Given the description of an element on the screen output the (x, y) to click on. 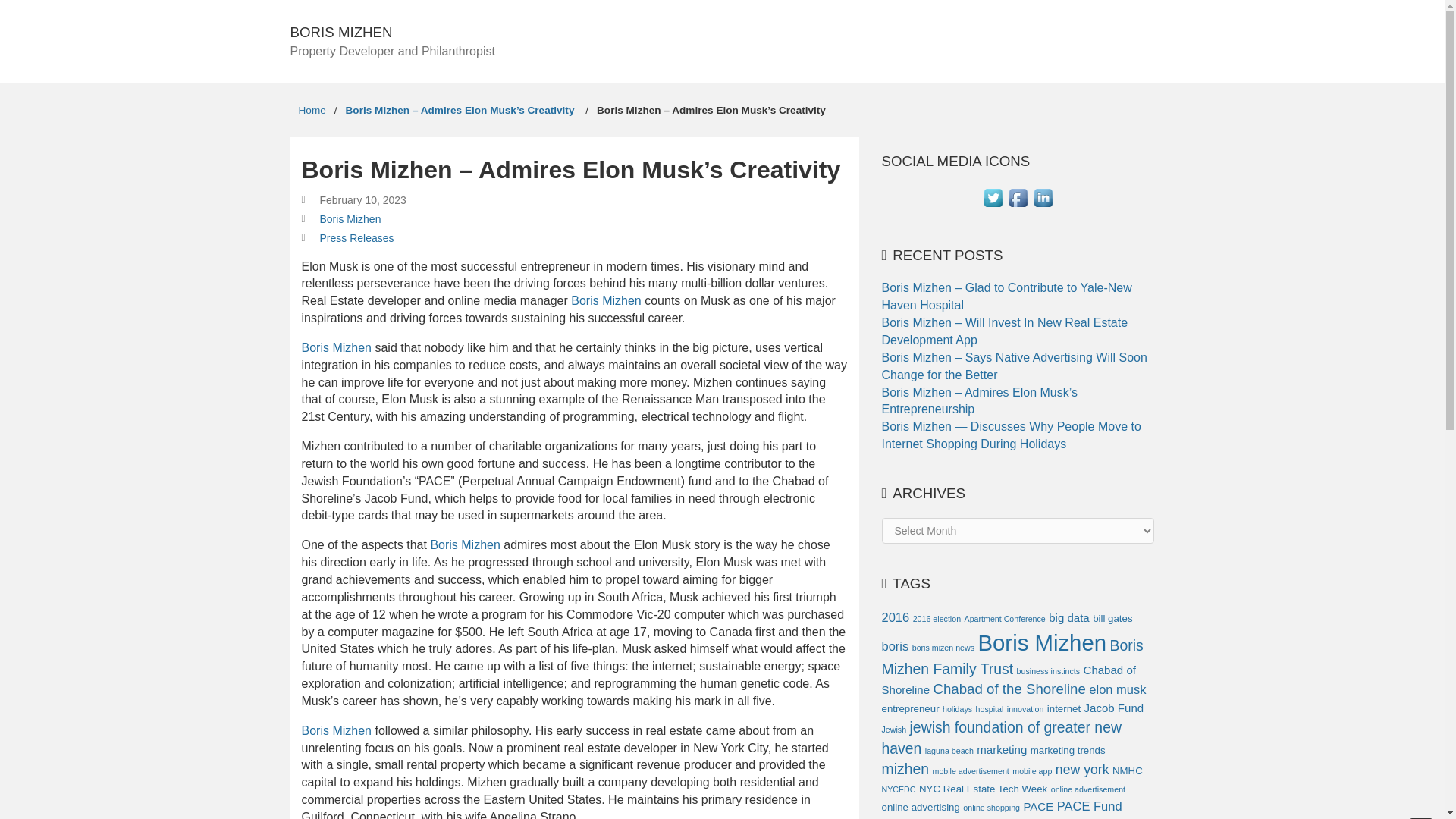
Boris Mizhen (605, 300)
elon musk (1117, 689)
Visit Us On Facebook (1018, 205)
bill gates (1112, 618)
Home (311, 110)
Chabad of Shoreline (1007, 679)
2016 election (936, 618)
Visit Us On Linkedin (1042, 205)
Boris Mizhen (336, 347)
2016 (894, 617)
